Given the description of an element on the screen output the (x, y) to click on. 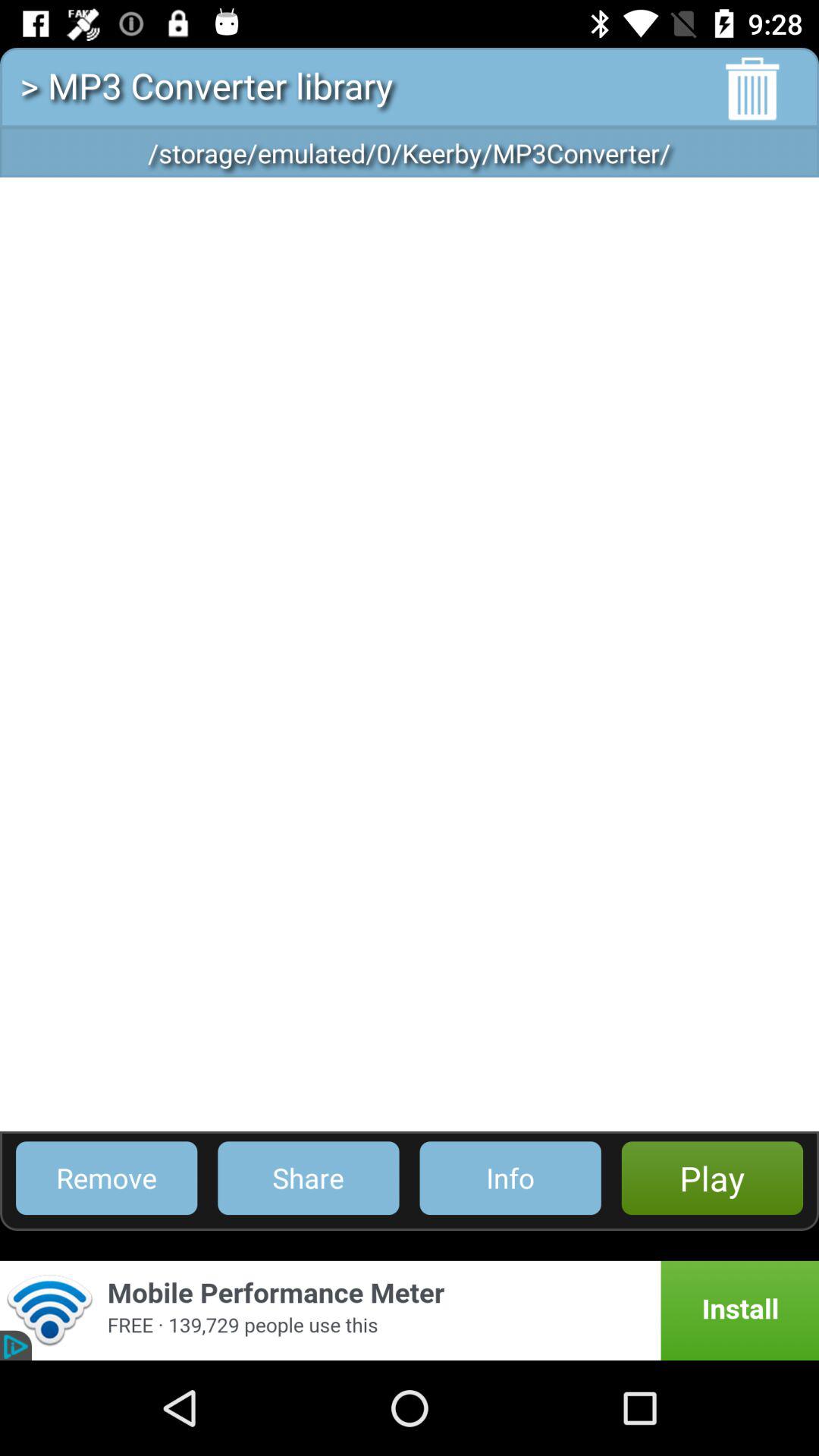
turn on the item to the left of share icon (106, 1177)
